Given the description of an element on the screen output the (x, y) to click on. 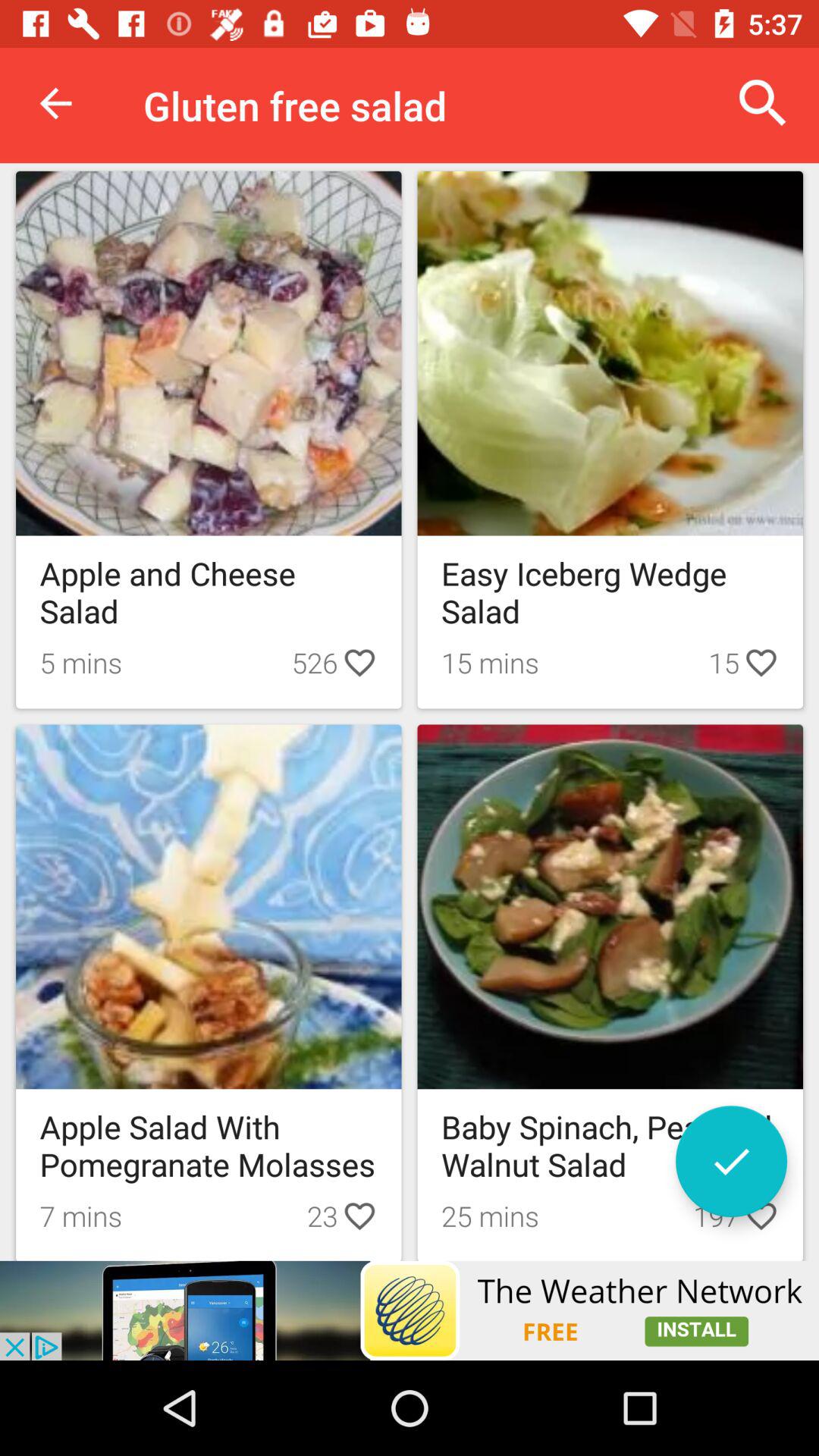
correct button (731, 1161)
